Given the description of an element on the screen output the (x, y) to click on. 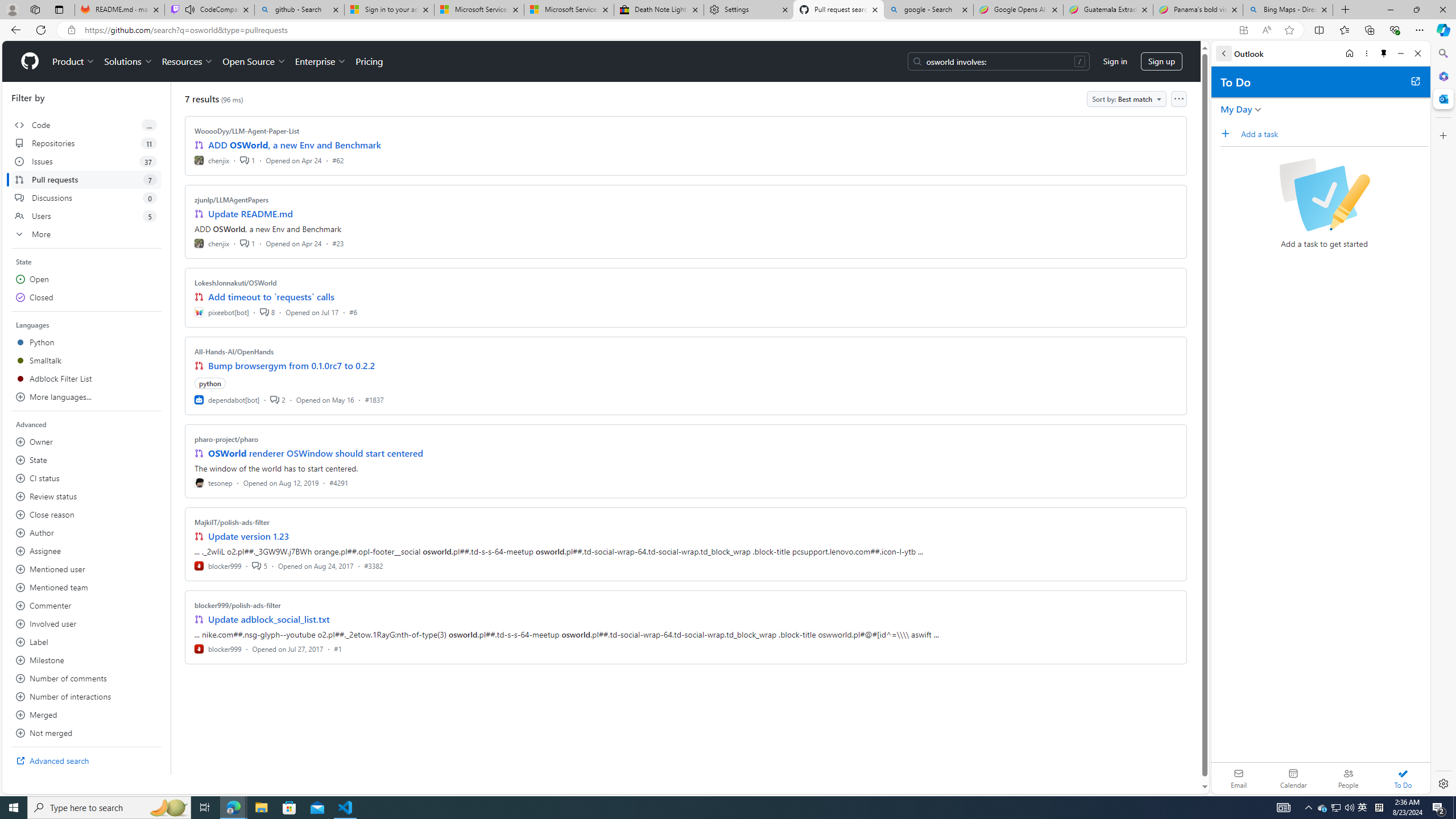
tesonep (213, 482)
More languages... (86, 397)
Sign in (1115, 61)
More languages... (86, 397)
github - Search (298, 9)
#23 (337, 242)
My Day (1236, 109)
Draggable pane splitter (169, 427)
